Given the description of an element on the screen output the (x, y) to click on. 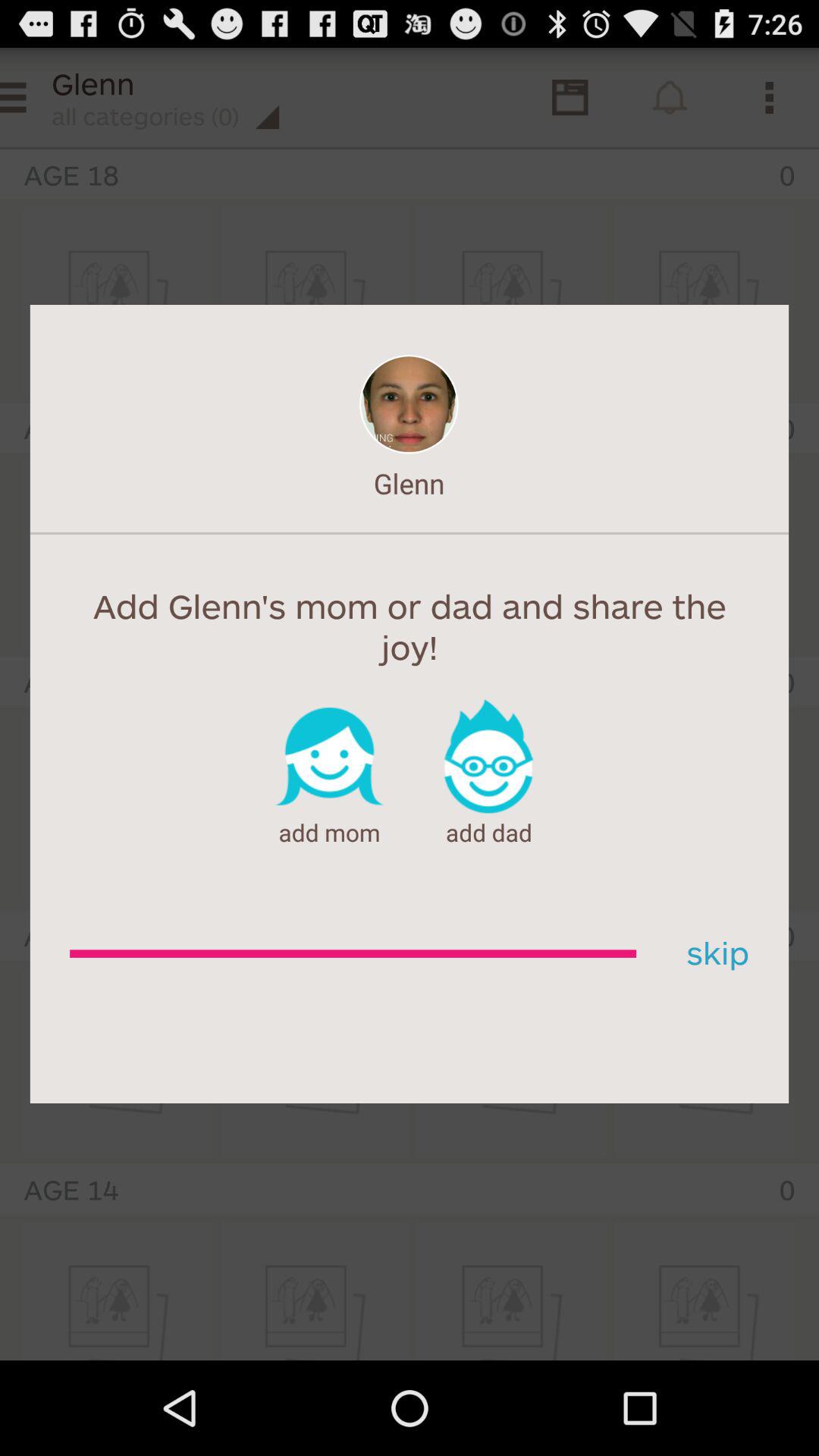
click app below the add glenn s icon (712, 953)
